Given the description of an element on the screen output the (x, y) to click on. 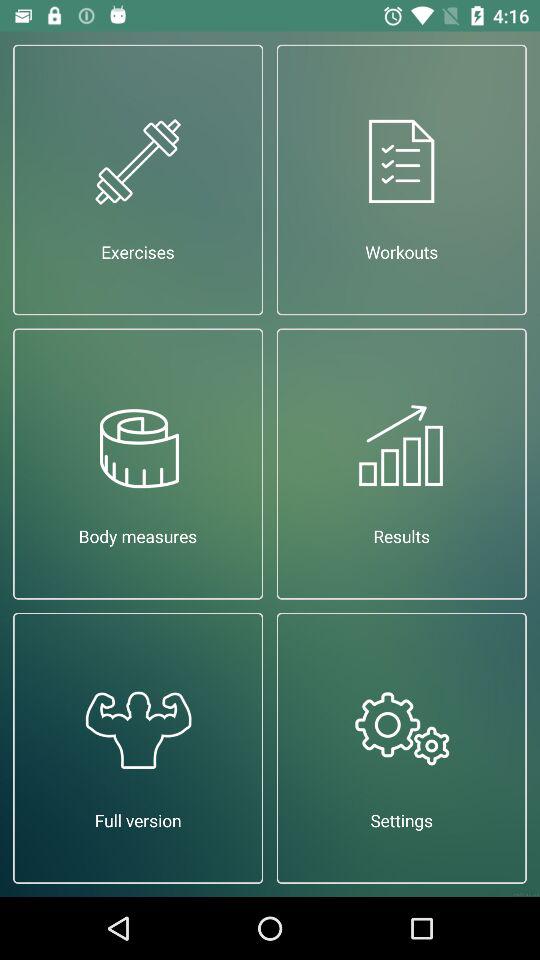
press app below results item (401, 748)
